Given the description of an element on the screen output the (x, y) to click on. 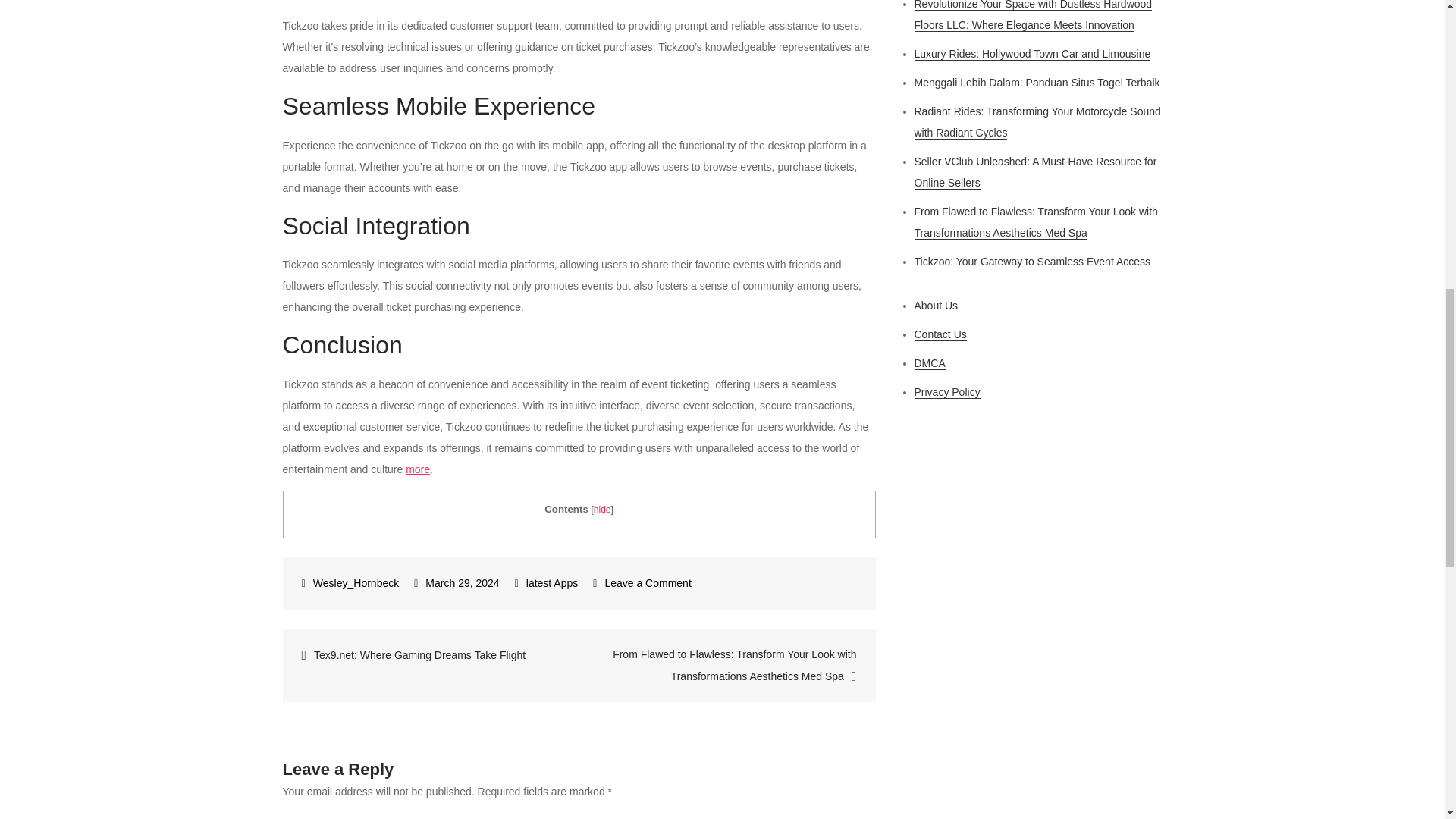
March 29, 2024 (456, 582)
hide (602, 509)
more (417, 469)
latest Apps (551, 582)
Tex9.net: Where Gaming Dreams Take Flight (430, 654)
